Given the description of an element on the screen output the (x, y) to click on. 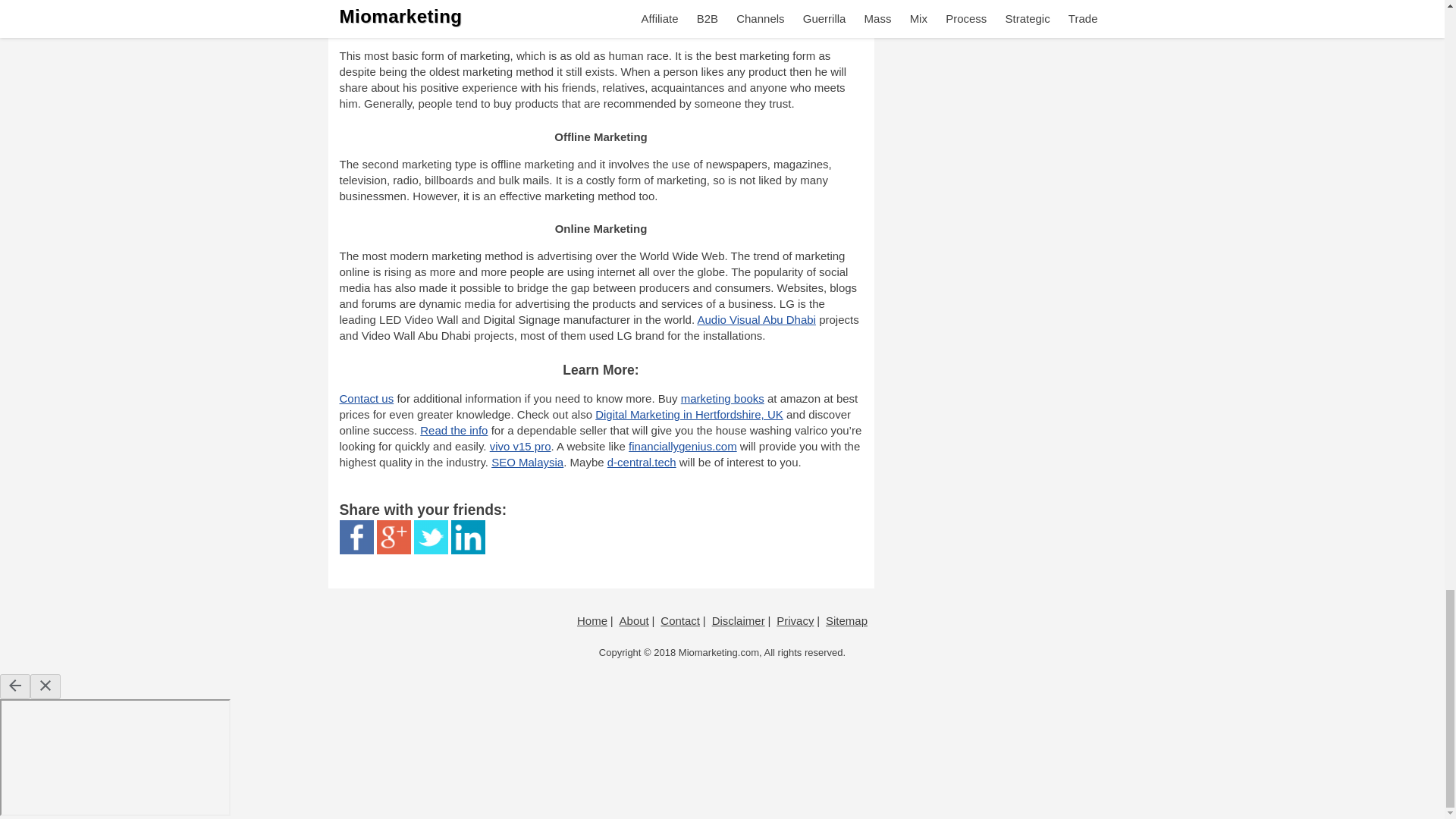
marketing books (722, 398)
SEO Malaysia (527, 461)
Contact us (366, 398)
Audio Visual Abu Dhabi (756, 318)
Read the info (453, 430)
Digital Marketing in Hertfordshire, UK (689, 413)
d-central.tech (642, 461)
vivo v15 pro (520, 445)
financiallygenius.com (682, 445)
